Given the description of an element on the screen output the (x, y) to click on. 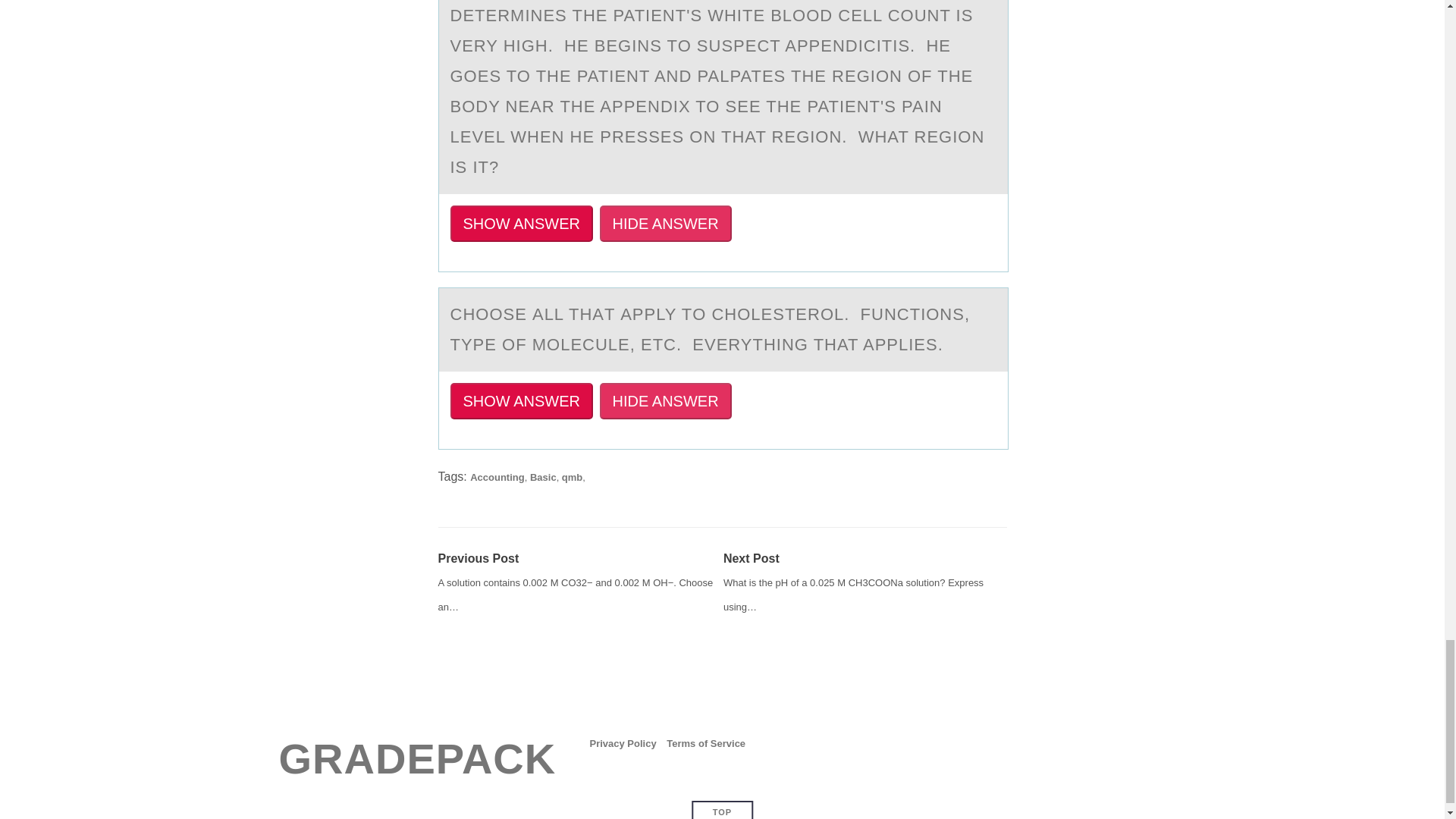
GRADEPACK (417, 758)
SHOW ANSWER (520, 401)
Privacy Policy (622, 743)
qmb (572, 477)
Accounting (497, 477)
Terms of Service (705, 743)
HIDE ANSWER (665, 401)
TOP (722, 811)
SHOW ANSWER (520, 223)
Basic (542, 477)
HIDE ANSWER (665, 223)
